Given the description of an element on the screen output the (x, y) to click on. 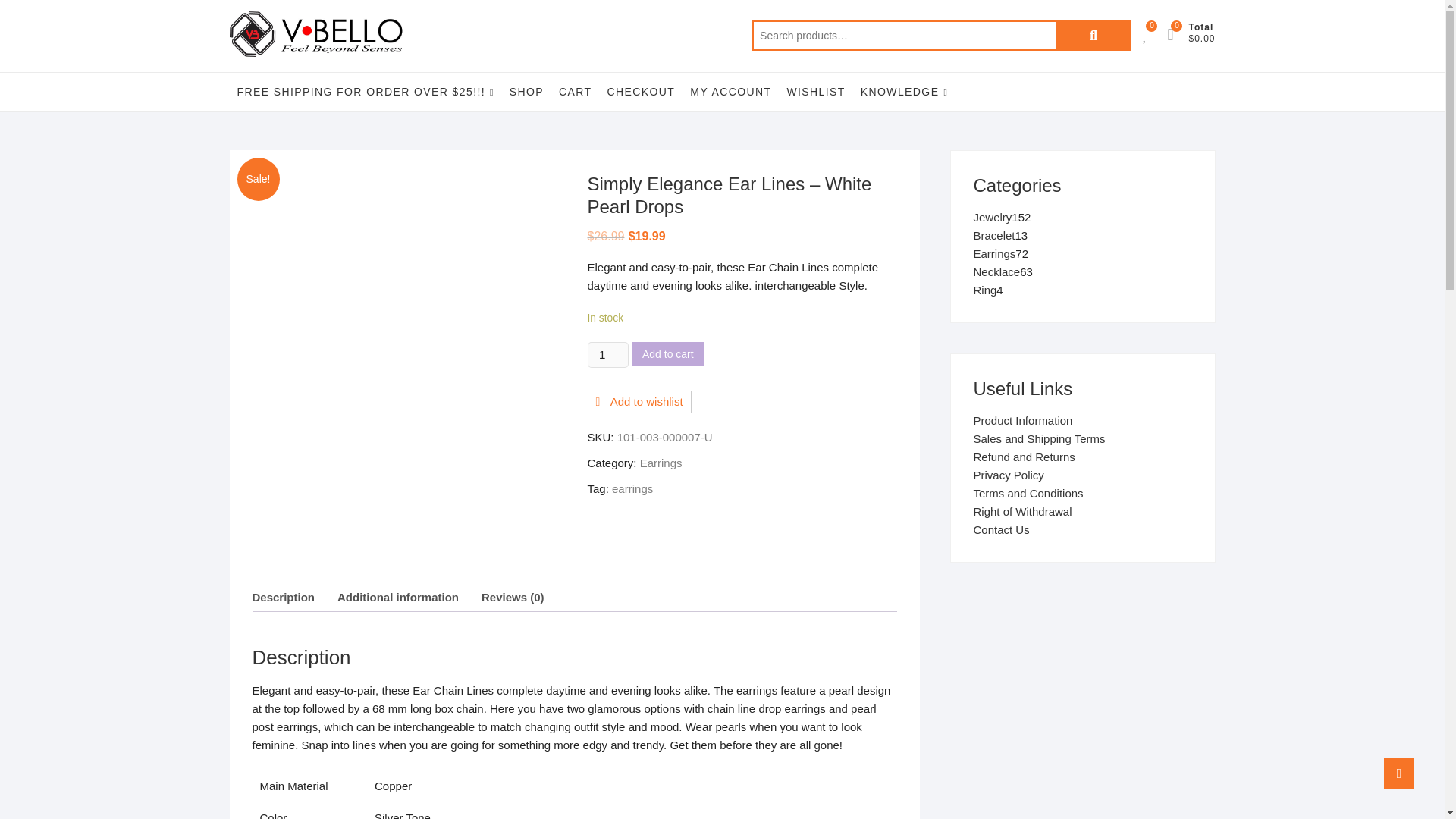
Search (1093, 35)
Earrings (661, 462)
CHECKOUT (640, 91)
earrings (631, 488)
MY ACCOUNT (730, 91)
CART (574, 91)
SHOP (526, 91)
Add to cart (667, 353)
KNOWLEDGE (904, 91)
1 (606, 354)
